Given the description of an element on the screen output the (x, y) to click on. 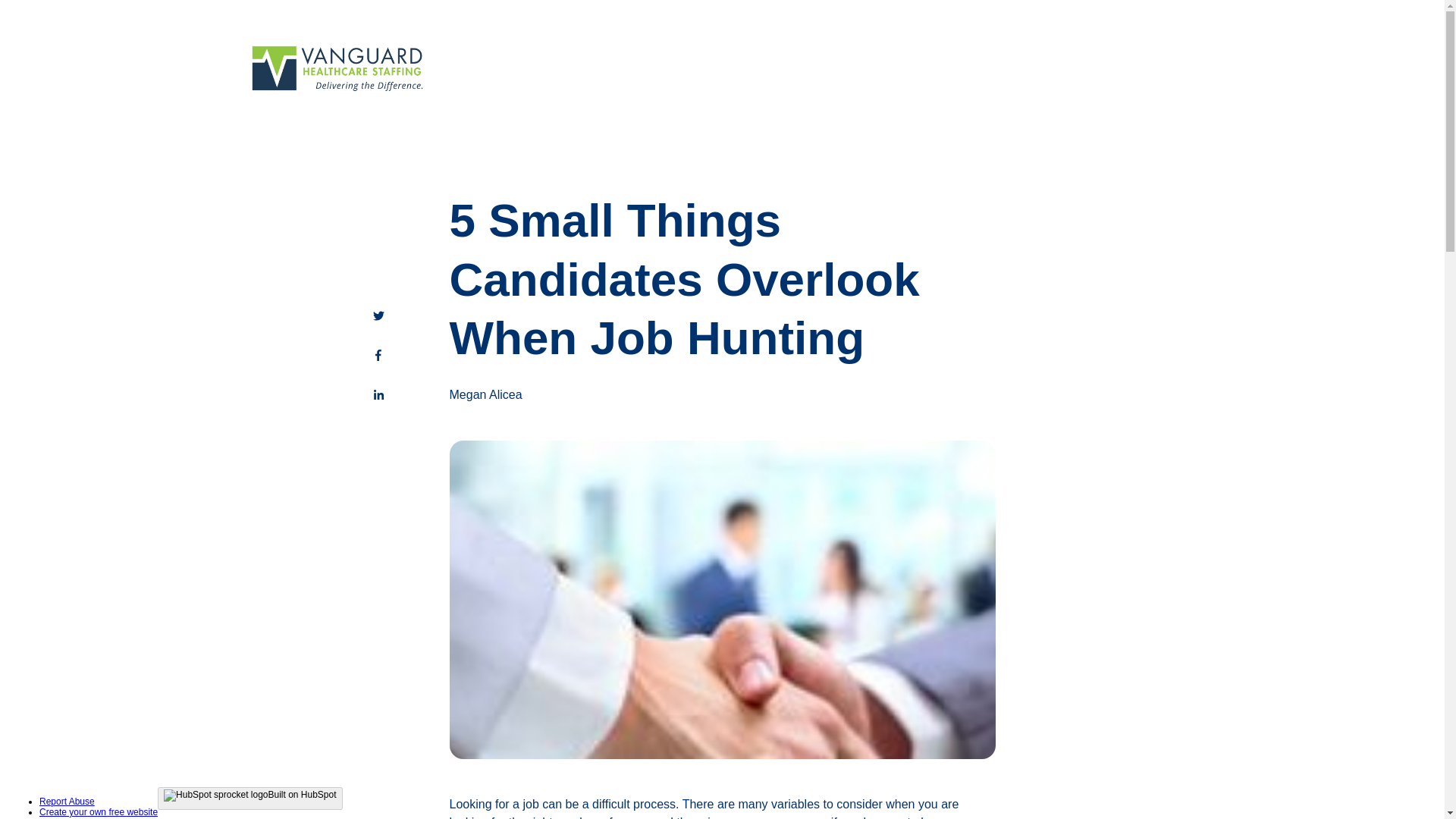
Share this blog post on Twitter (378, 315)
Delivering the Difference logo smaller1 (338, 69)
Megan Alicea (484, 394)
